Given the description of an element on the screen output the (x, y) to click on. 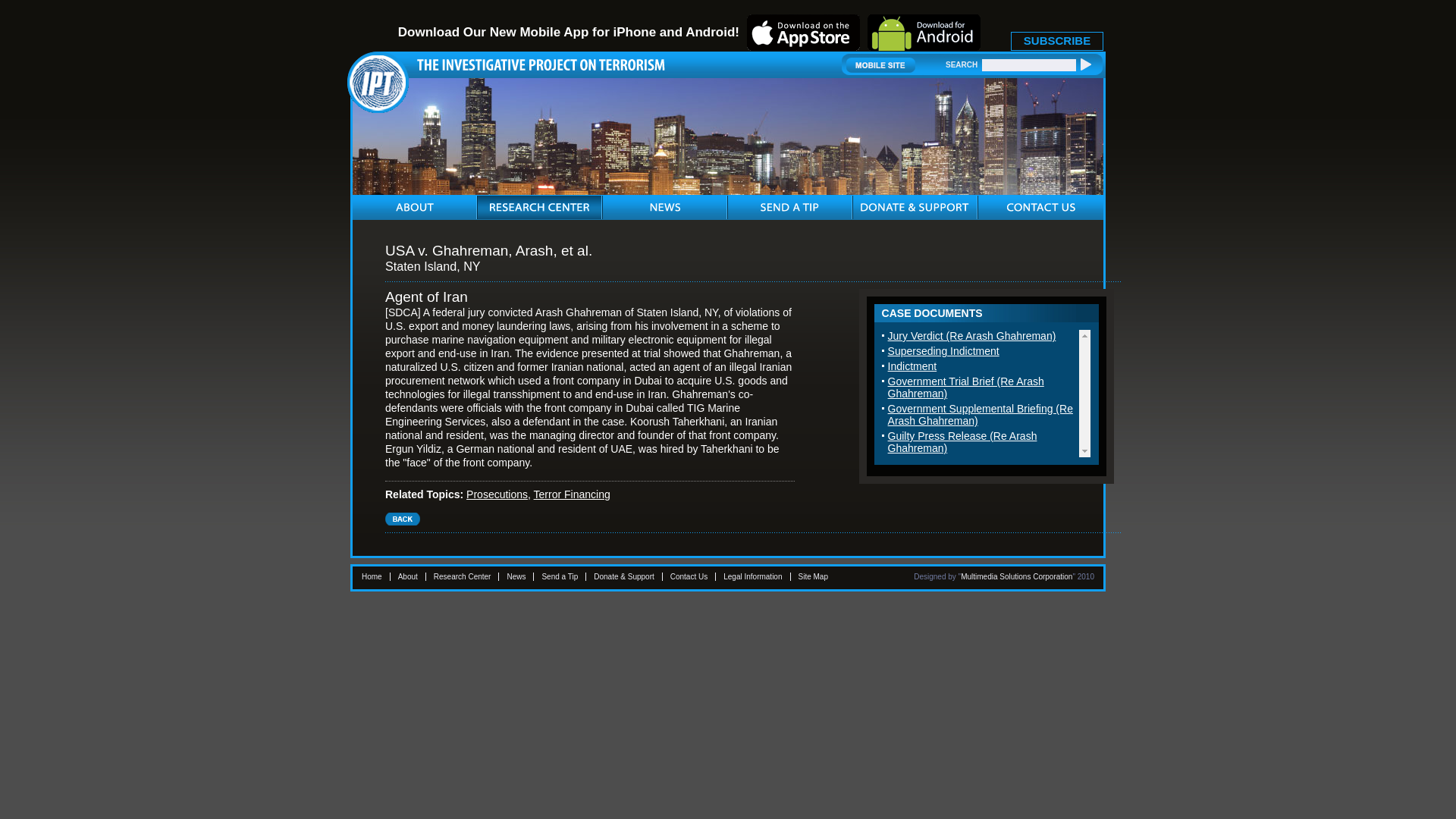
About (407, 576)
SUBSCRIBE (1056, 40)
SEND A TIP (789, 207)
ABOUT (414, 207)
CONTACT US (1041, 207)
RESEARCH CENTER (539, 207)
Research Center (462, 576)
Prosecutions (496, 494)
NEWS (664, 207)
News (515, 576)
Send a Tip (559, 576)
Indictment (912, 366)
Superseding Indictment (943, 350)
Terror Financing (572, 494)
Home (371, 576)
